Given the description of an element on the screen output the (x, y) to click on. 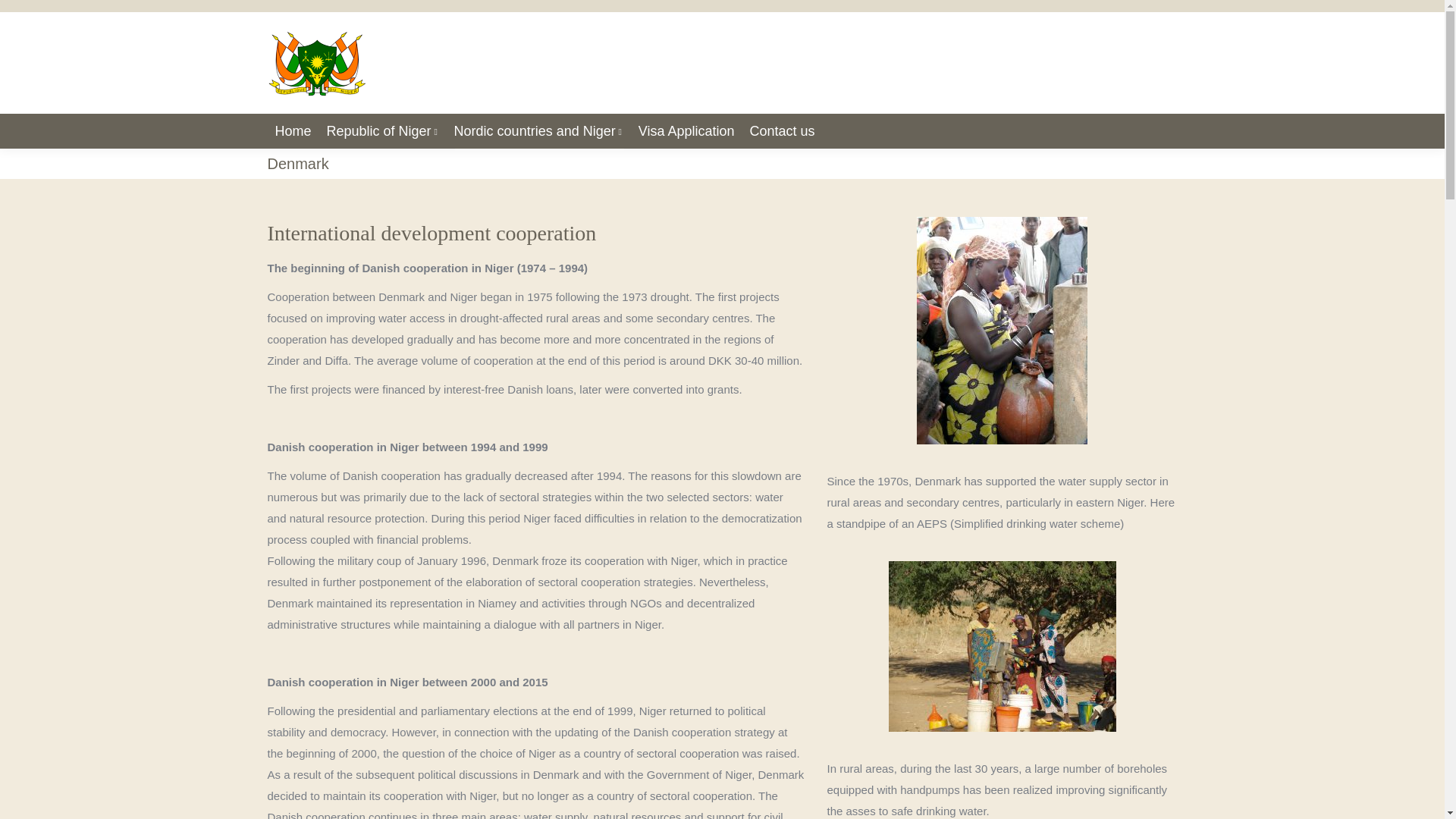
Visa Application (686, 130)
Nordic countries and Niger (538, 130)
Home (292, 130)
Contact us (781, 130)
Republic of Niger (382, 130)
